Given the description of an element on the screen output the (x, y) to click on. 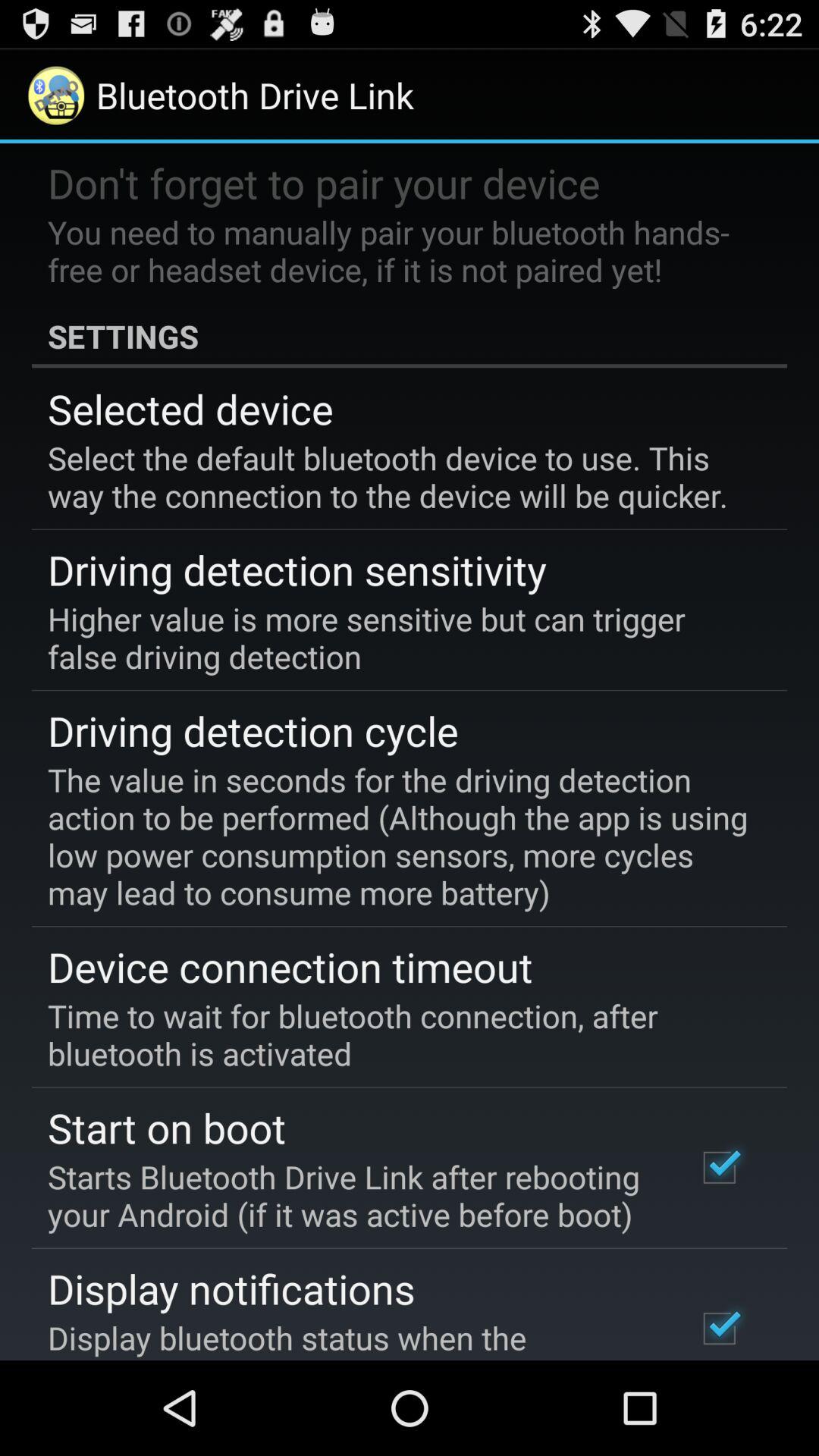
jump to start on boot (166, 1127)
